Given the description of an element on the screen output the (x, y) to click on. 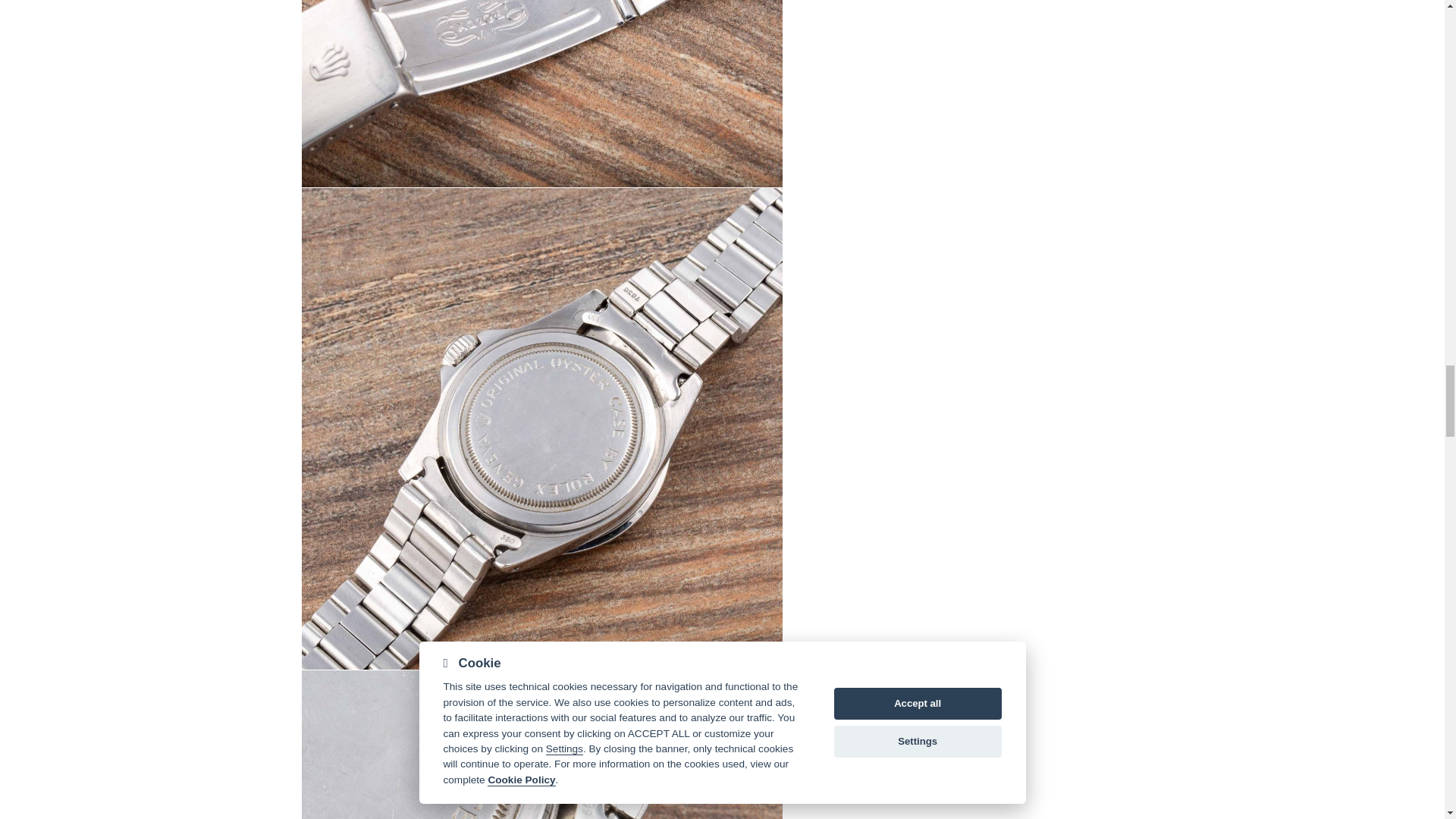
Tudor SUBMARINER DATE SNOWFLAKE REF. 7021 (542, 744)
Tudor SUBMARINER DATE SNOWFLAKE REF. 7021 (542, 93)
